Given the description of an element on the screen output the (x, y) to click on. 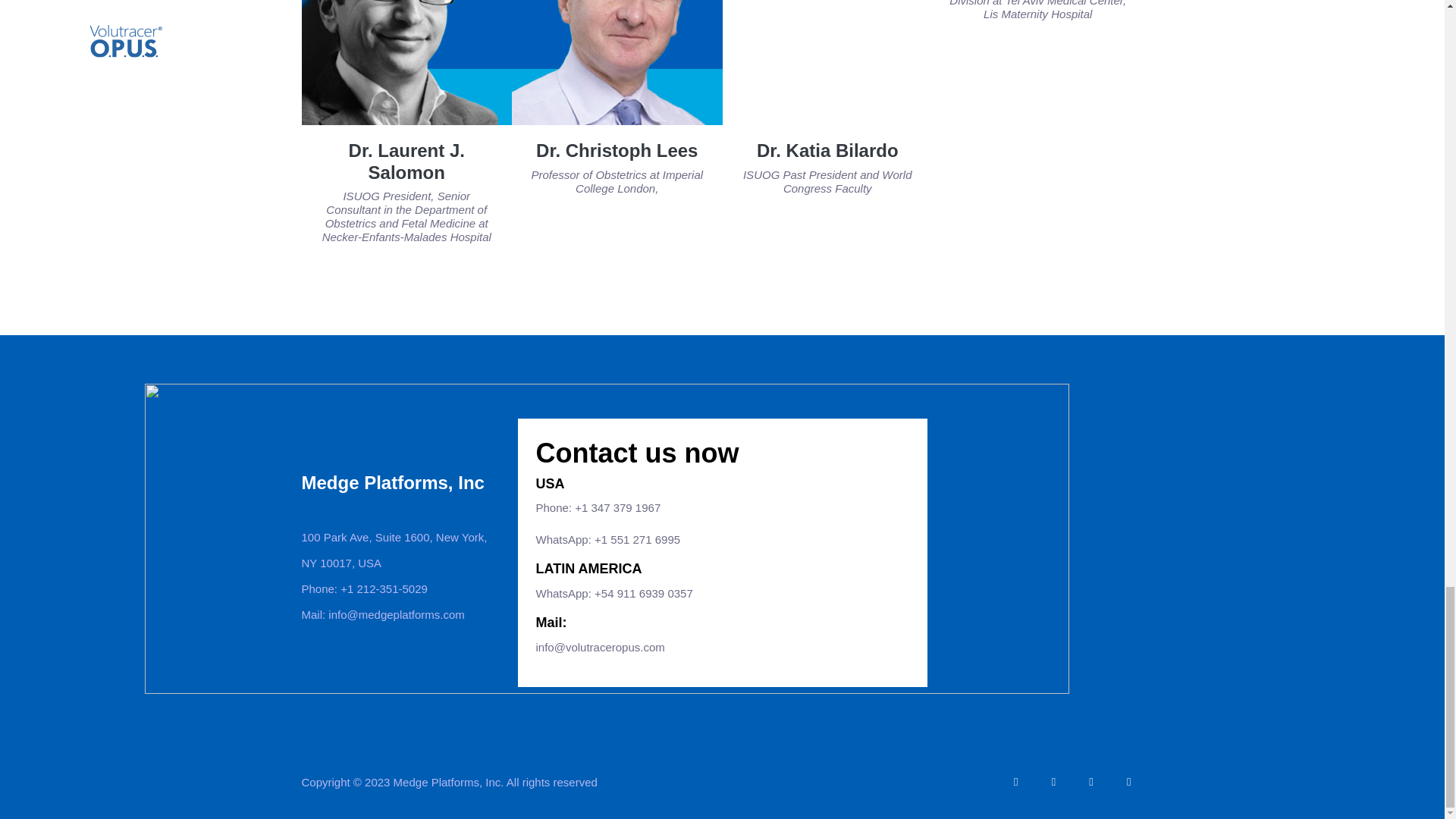
NY 10017, USA (398, 563)
Dr. Laurent J. Salomon (406, 161)
Dr. Christoph Lees (616, 150)
Dr. Katia Bilardo (827, 150)
100 Park Ave, Suite 1600, New York, (398, 537)
